Given the description of an element on the screen output the (x, y) to click on. 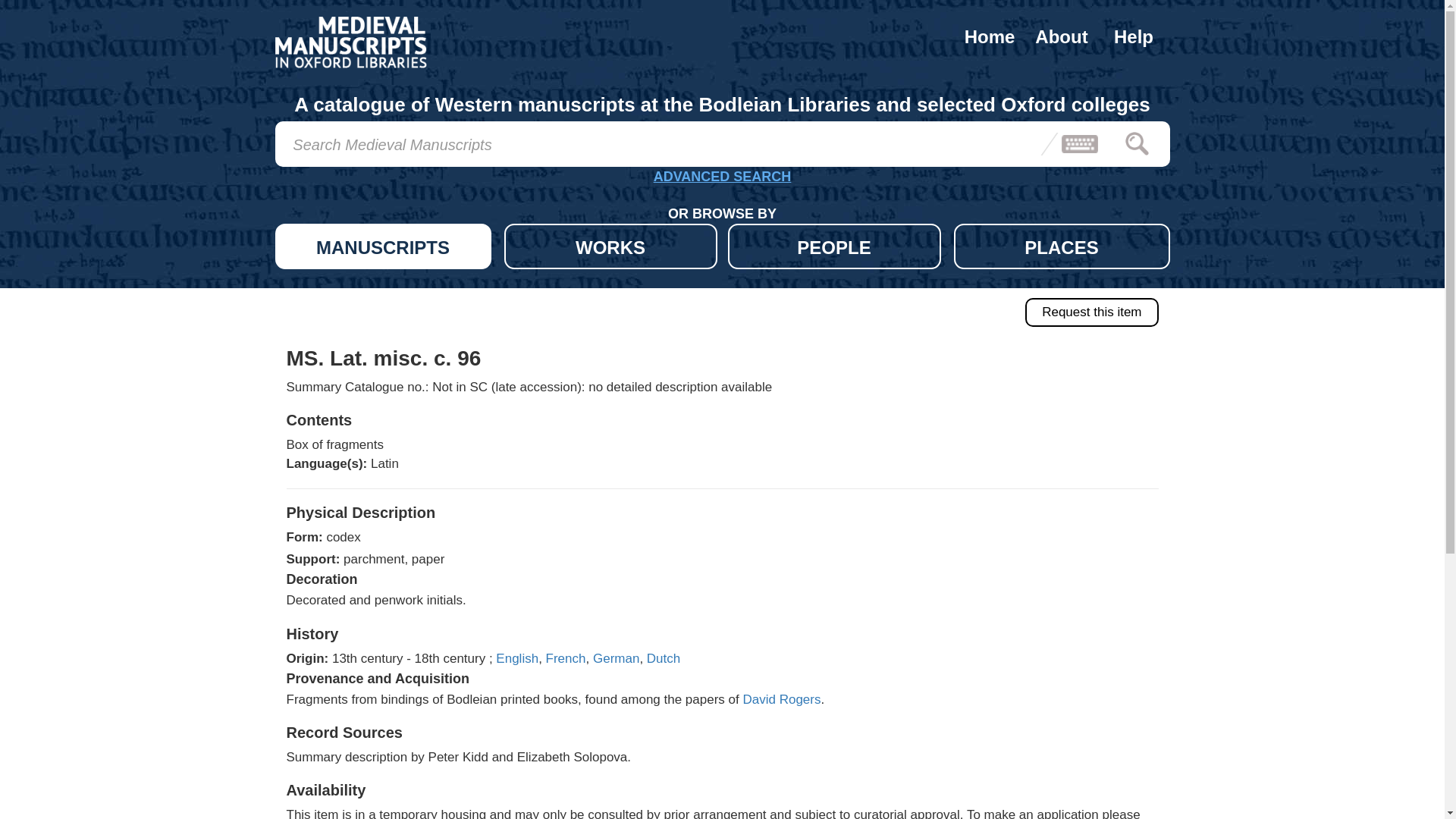
PEOPLE (834, 246)
MANUSCRIPTS (382, 246)
English (517, 658)
Request this item (1091, 312)
PLACES (1061, 246)
ADVANCED SEARCH (721, 178)
About (1061, 36)
WORKS (609, 246)
French (566, 658)
Help (1133, 36)
Dutch (662, 658)
Home (989, 36)
German (615, 658)
David Rogers (781, 699)
Request this item (1091, 312)
